Given the description of an element on the screen output the (x, y) to click on. 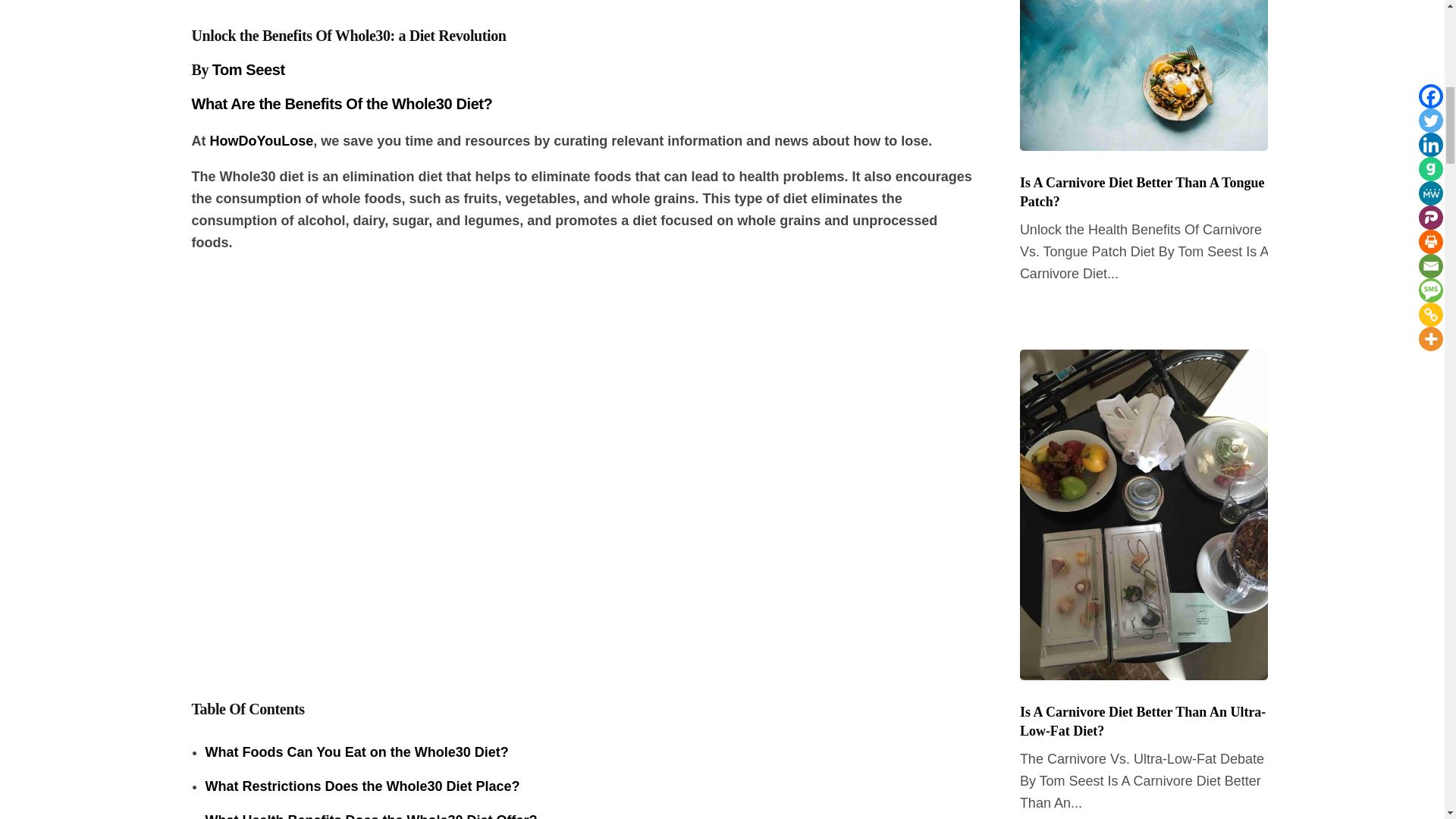
What Restrictions Does the Whole30 Diet Place? (362, 785)
Tom Seest (248, 69)
HowDoYouLose (261, 140)
What Foods Can You Eat on the Whole30 Diet? (356, 752)
What Are the Benefits Of the Whole30 Diet? (341, 103)
